Given the description of an element on the screen output the (x, y) to click on. 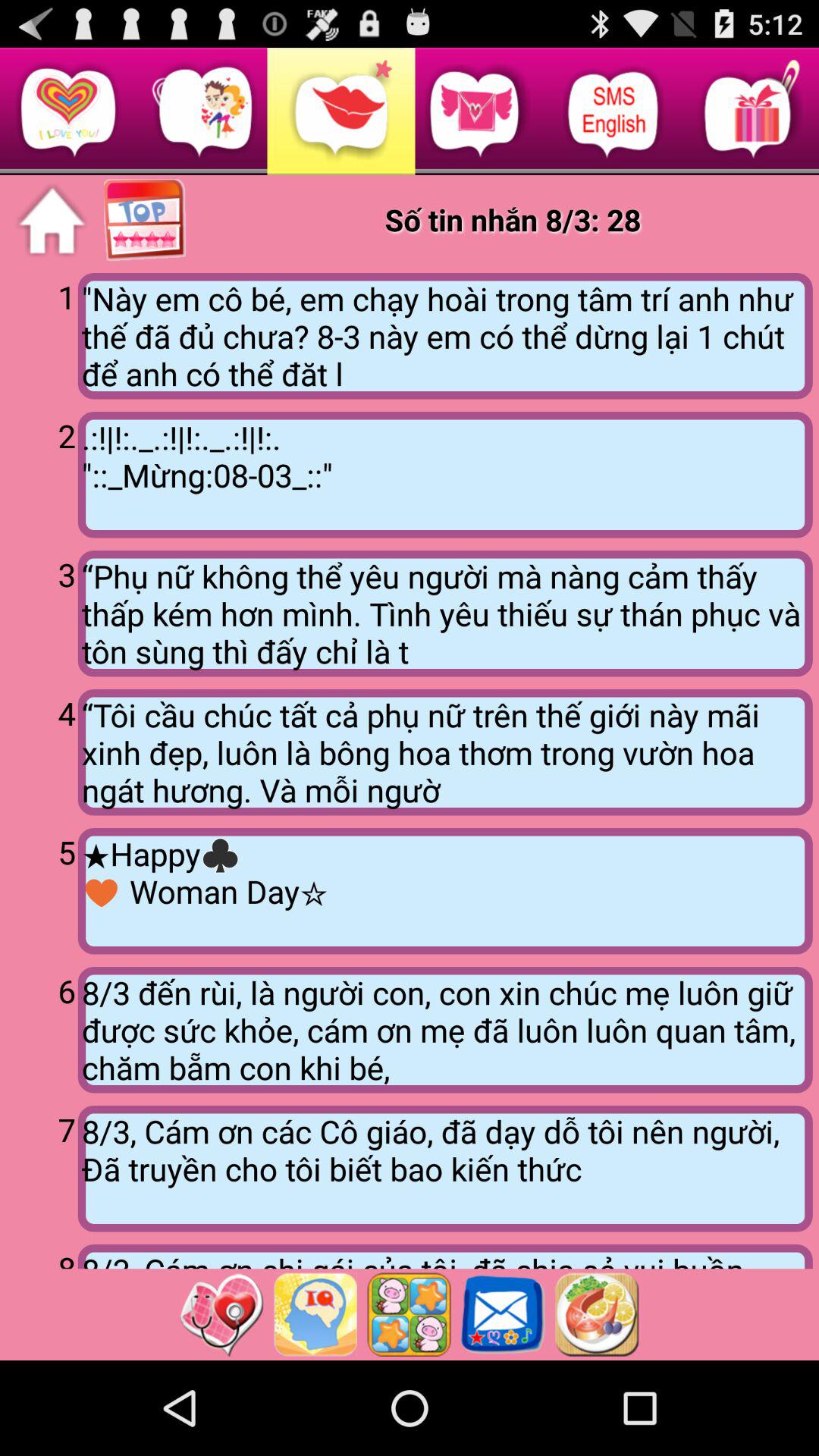
love messages (51, 220)
